Given the description of an element on the screen output the (x, y) to click on. 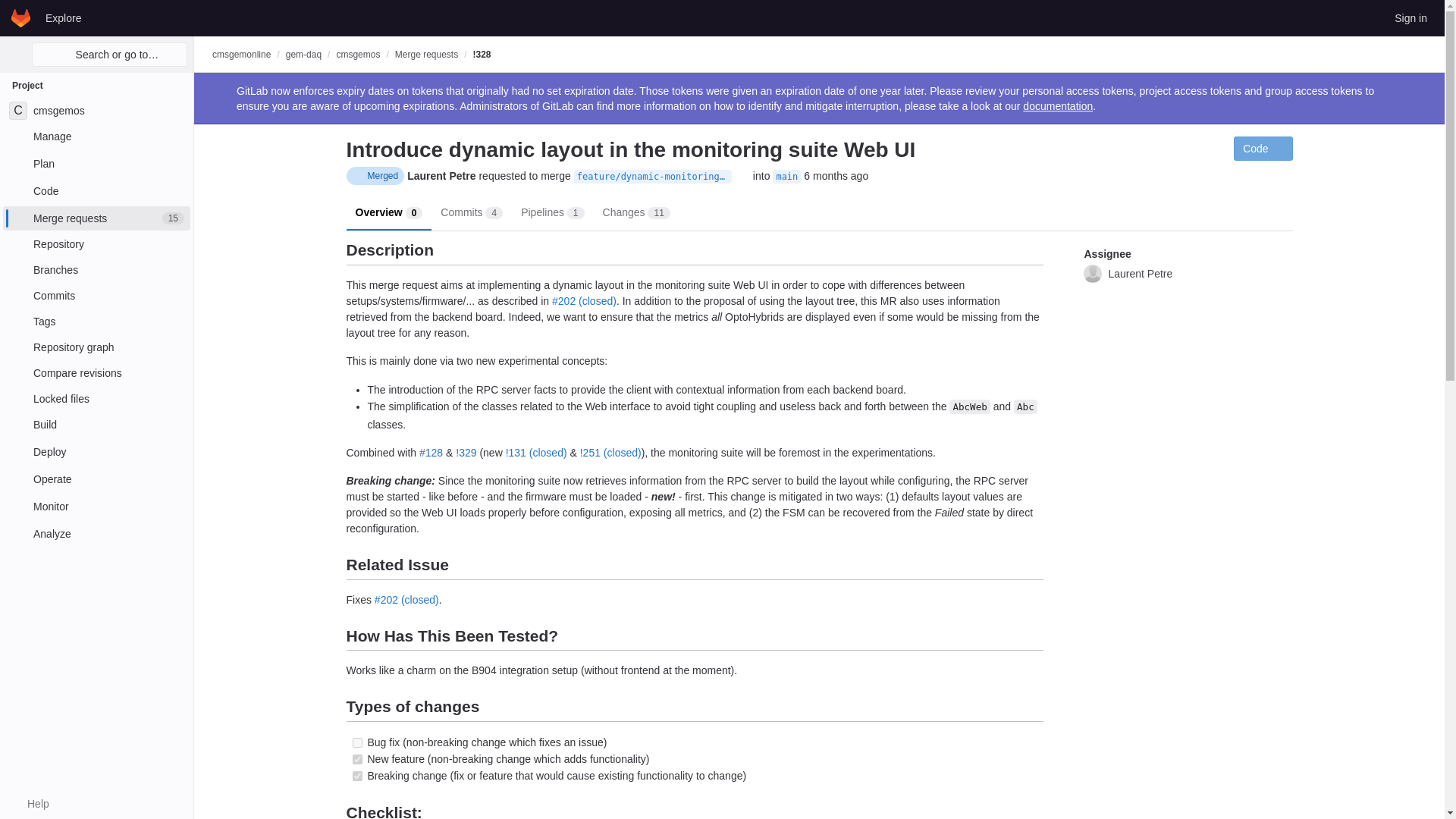
Deploy (96, 218)
Locked files (96, 451)
Operate (96, 398)
Integrate the layout tree into the monitoring suite (96, 478)
Repository (96, 110)
Build (583, 300)
Branches (96, 243)
on (96, 424)
Repository graph (96, 269)
Tags (356, 759)
Code (96, 346)
Sign in (96, 321)
Homepage (96, 191)
